Given the description of an element on the screen output the (x, y) to click on. 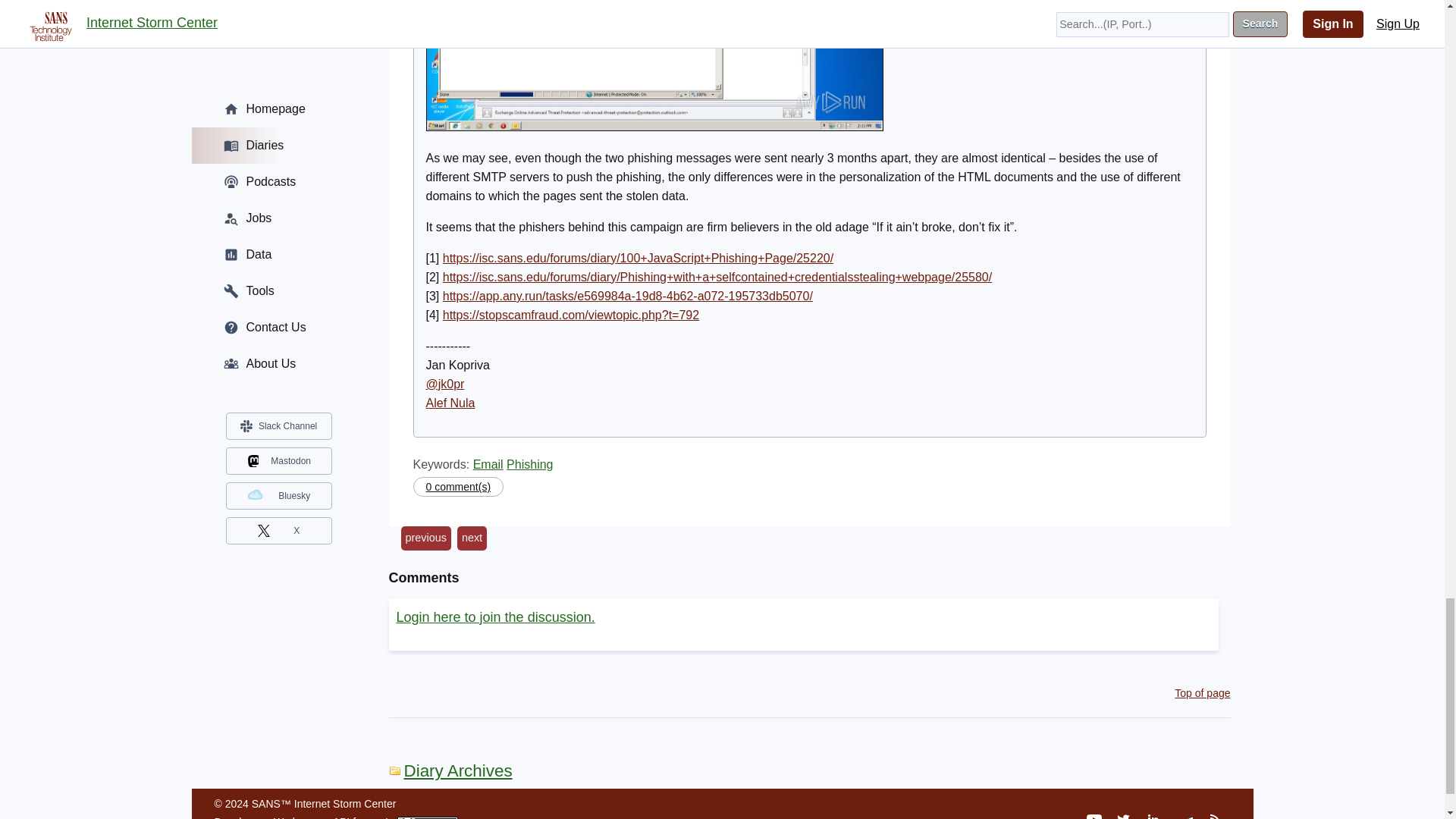
Login here to join the discussion. (495, 616)
Diary Archives (450, 770)
next (471, 538)
previous (424, 538)
Top of page (1202, 693)
Alef Nula (451, 402)
Phishing (529, 463)
Email (488, 463)
